Given the description of an element on the screen output the (x, y) to click on. 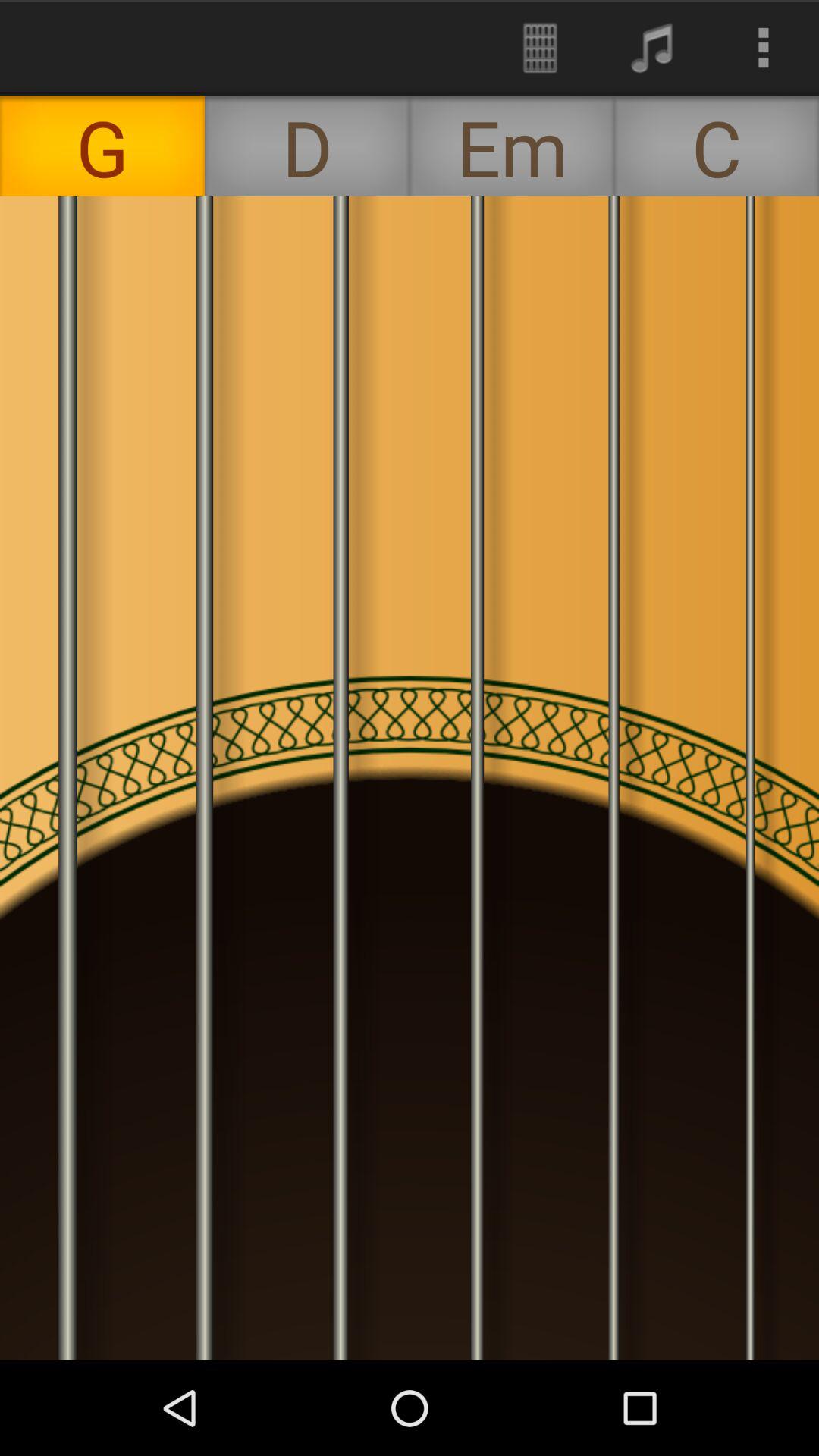
turn on the icon above em (651, 47)
